Given the description of an element on the screen output the (x, y) to click on. 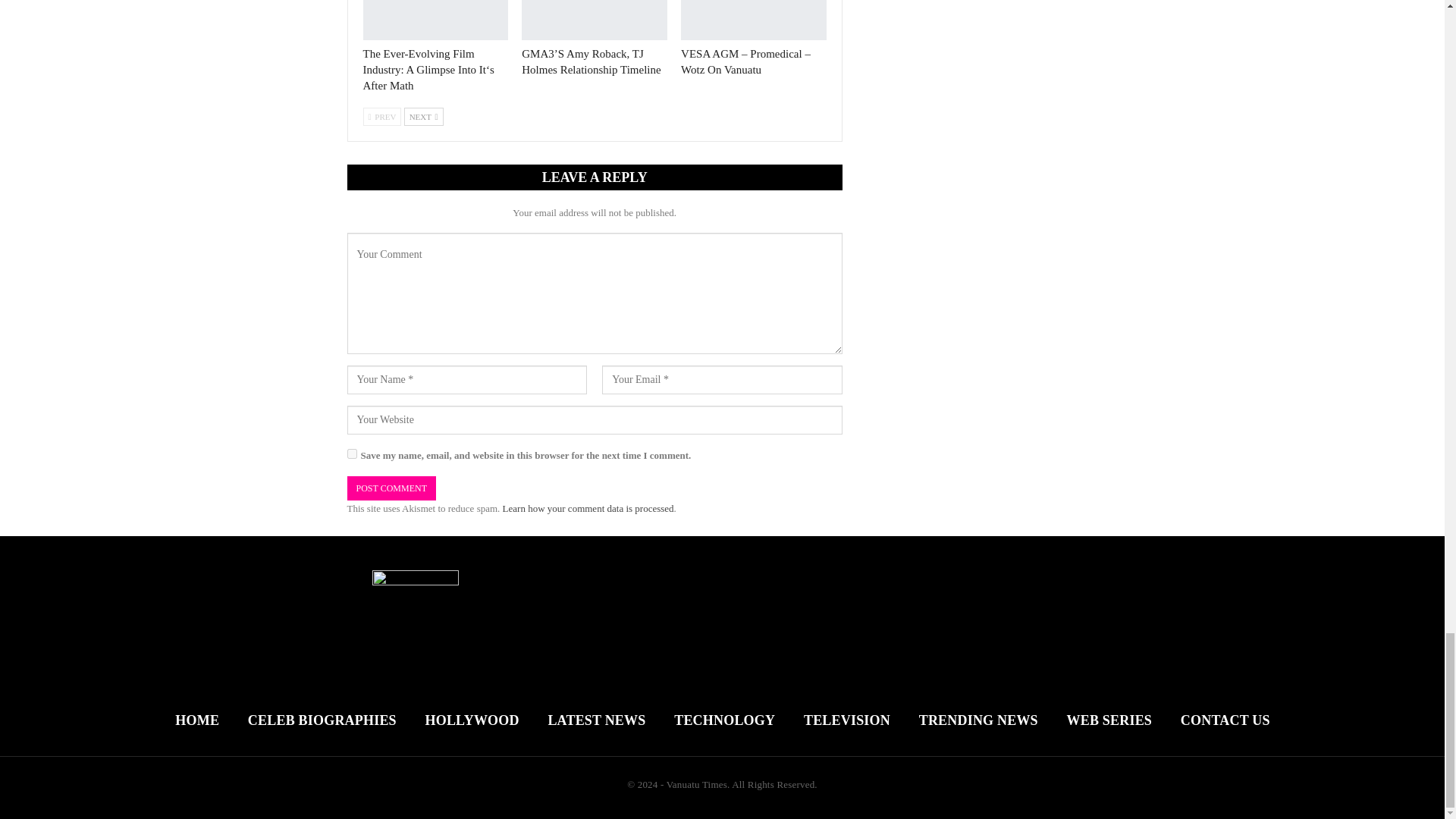
yes (351, 453)
Previous (381, 116)
Post Comment (391, 488)
